Given the description of an element on the screen output the (x, y) to click on. 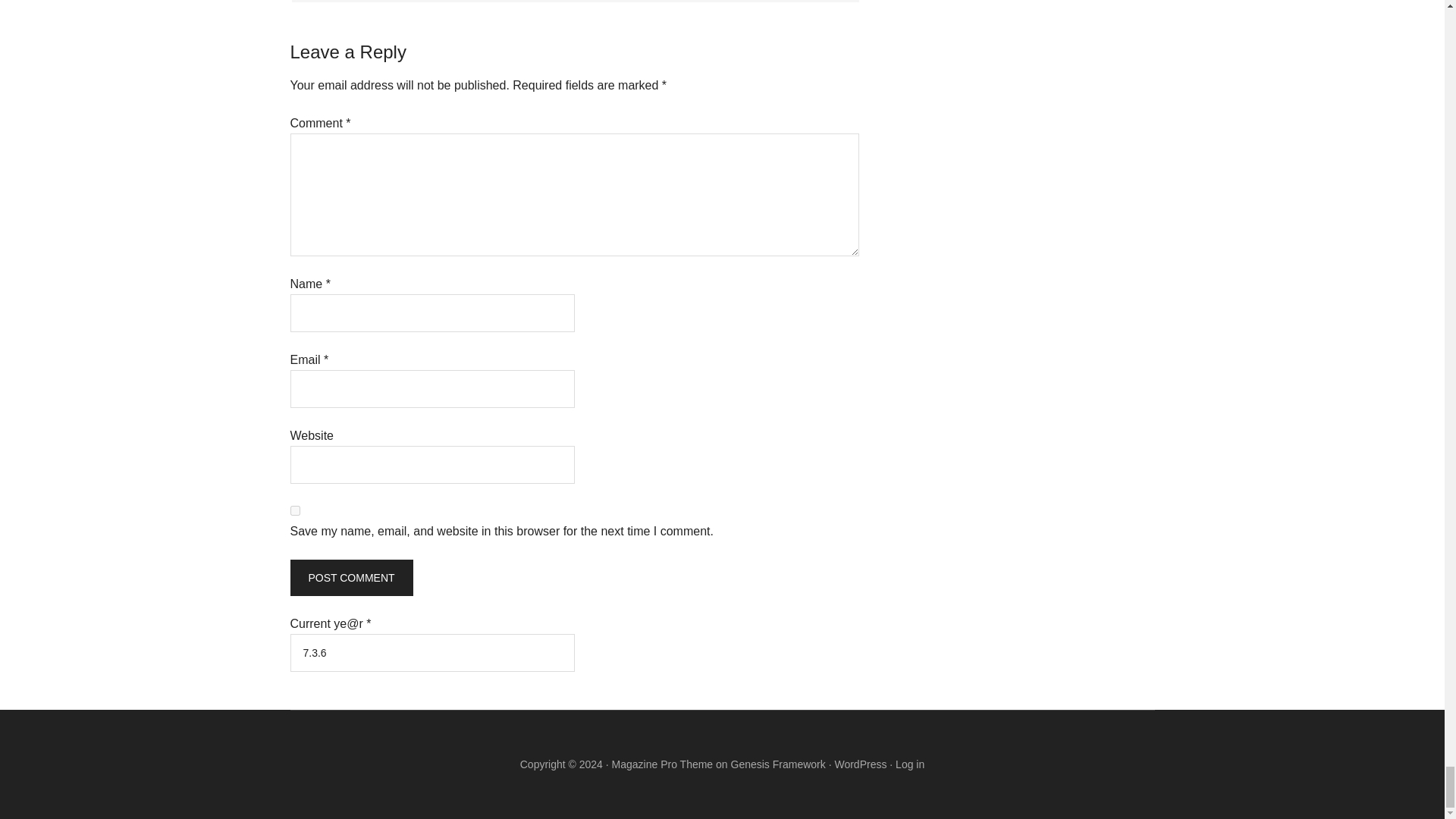
yes (294, 510)
7.3.6 (431, 652)
Post Comment (350, 577)
